Given the description of an element on the screen output the (x, y) to click on. 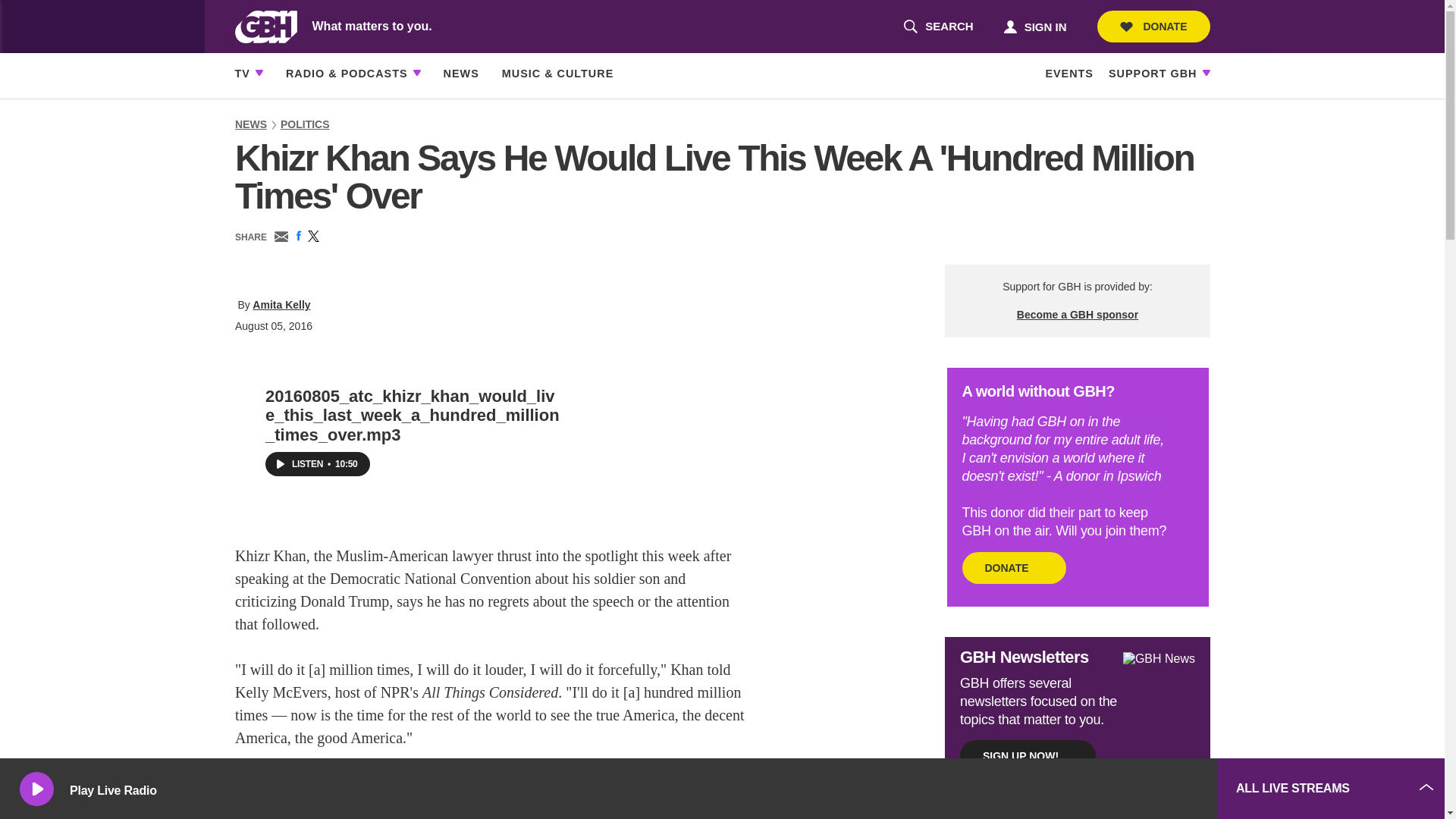
SIGN IN (937, 26)
DONATE (1034, 25)
